Given the description of an element on the screen output the (x, y) to click on. 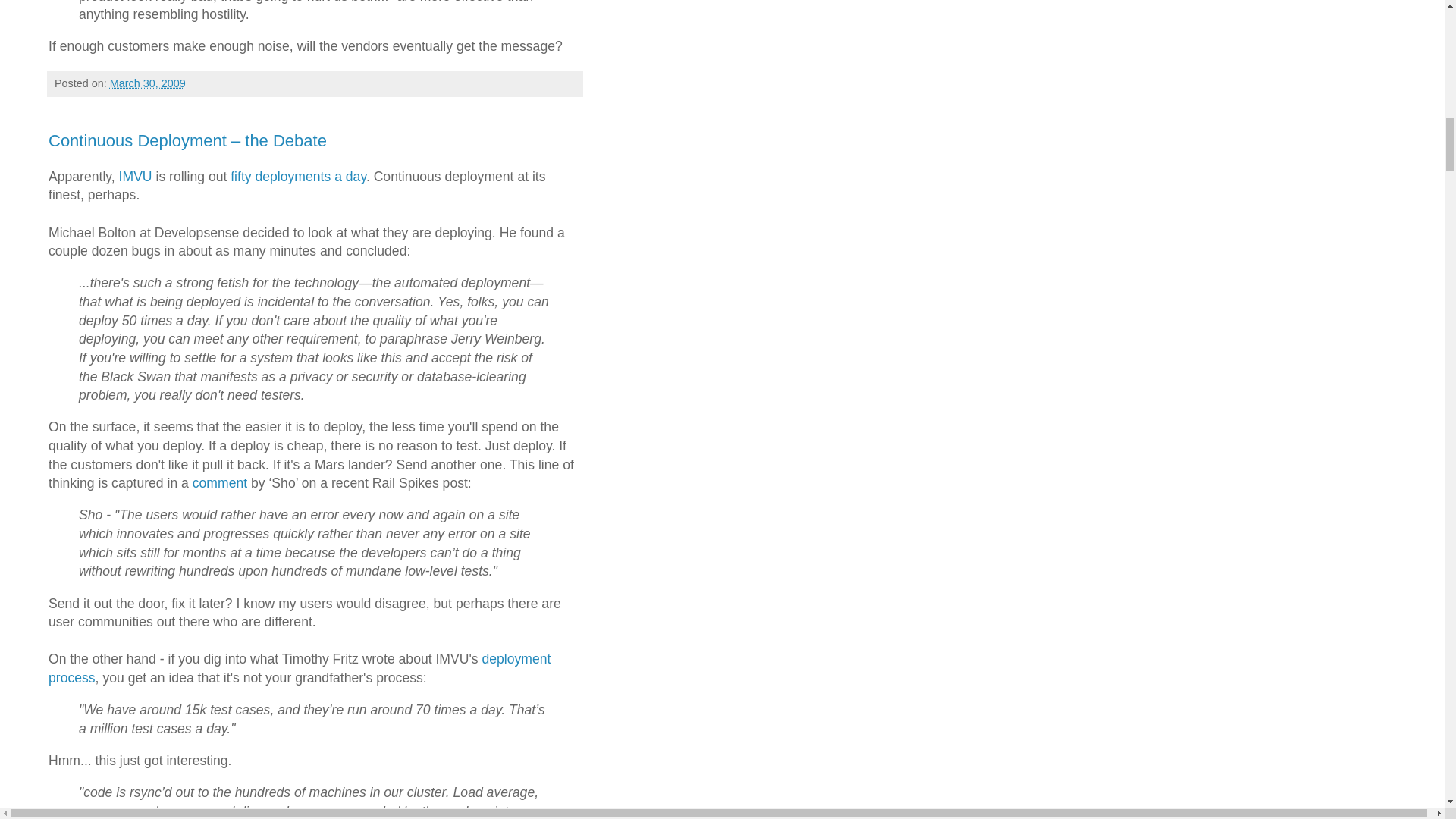
IMVU (135, 176)
deployment process (299, 668)
permanent link (148, 82)
comment (219, 482)
March 30, 2009 (148, 82)
fifty deployments a day (298, 176)
